Given the description of an element on the screen output the (x, y) to click on. 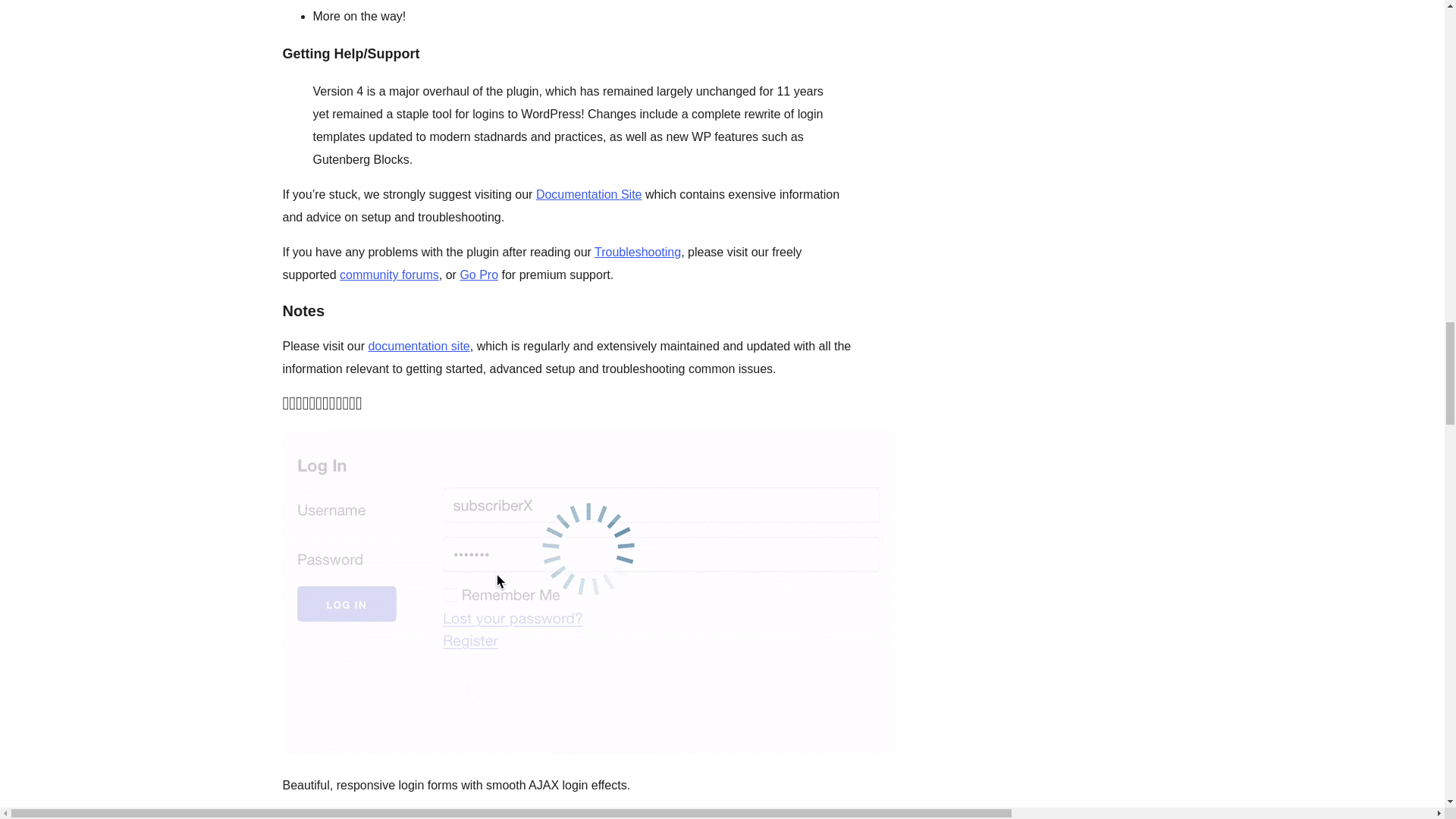
documentation site (418, 345)
Troubleshooting (637, 251)
Go Pro (478, 274)
Documentation Site (588, 194)
community forums (389, 274)
